Given the description of an element on the screen output the (x, y) to click on. 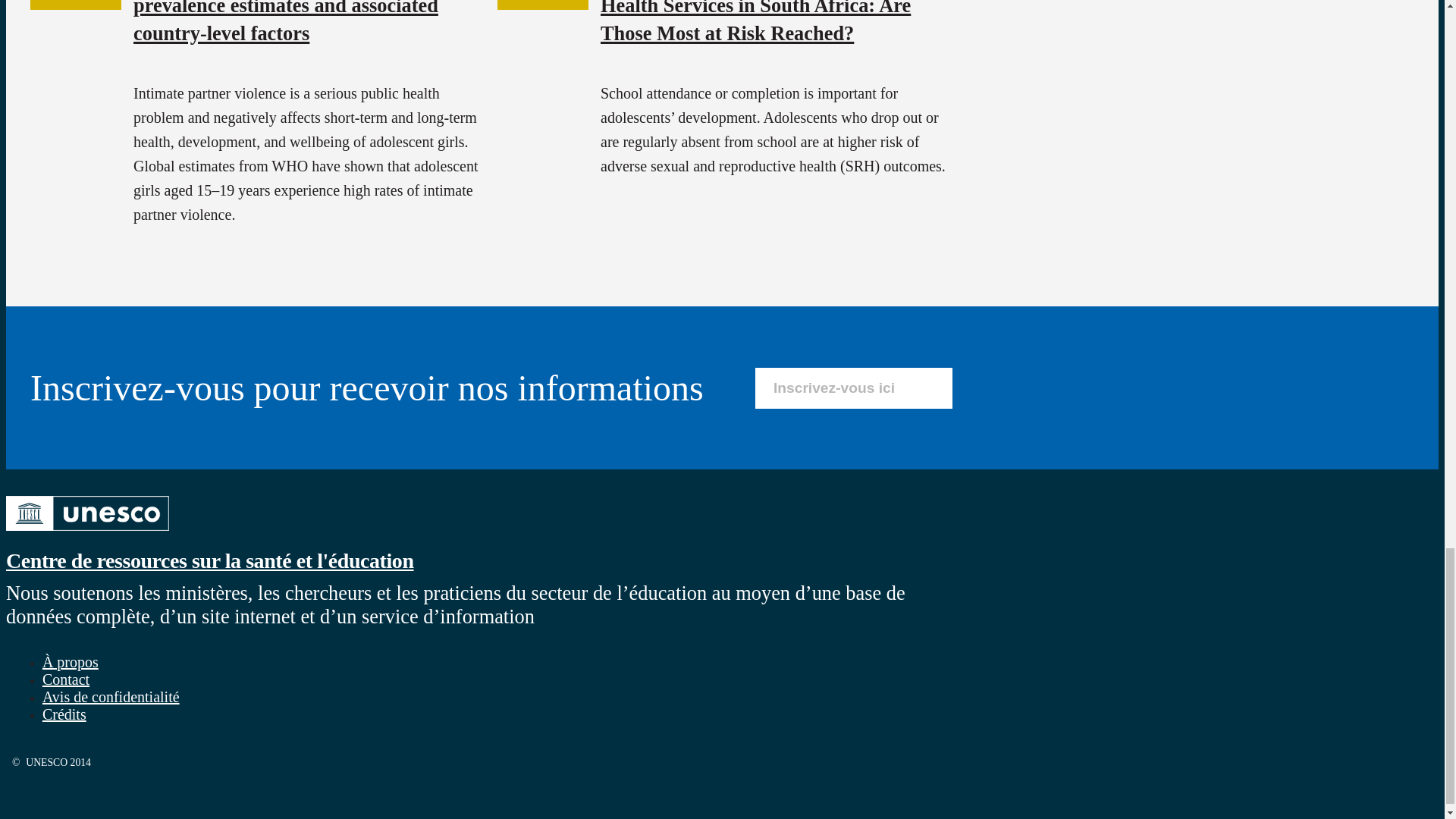
Home (209, 560)
Home (86, 532)
